Given the description of an element on the screen output the (x, y) to click on. 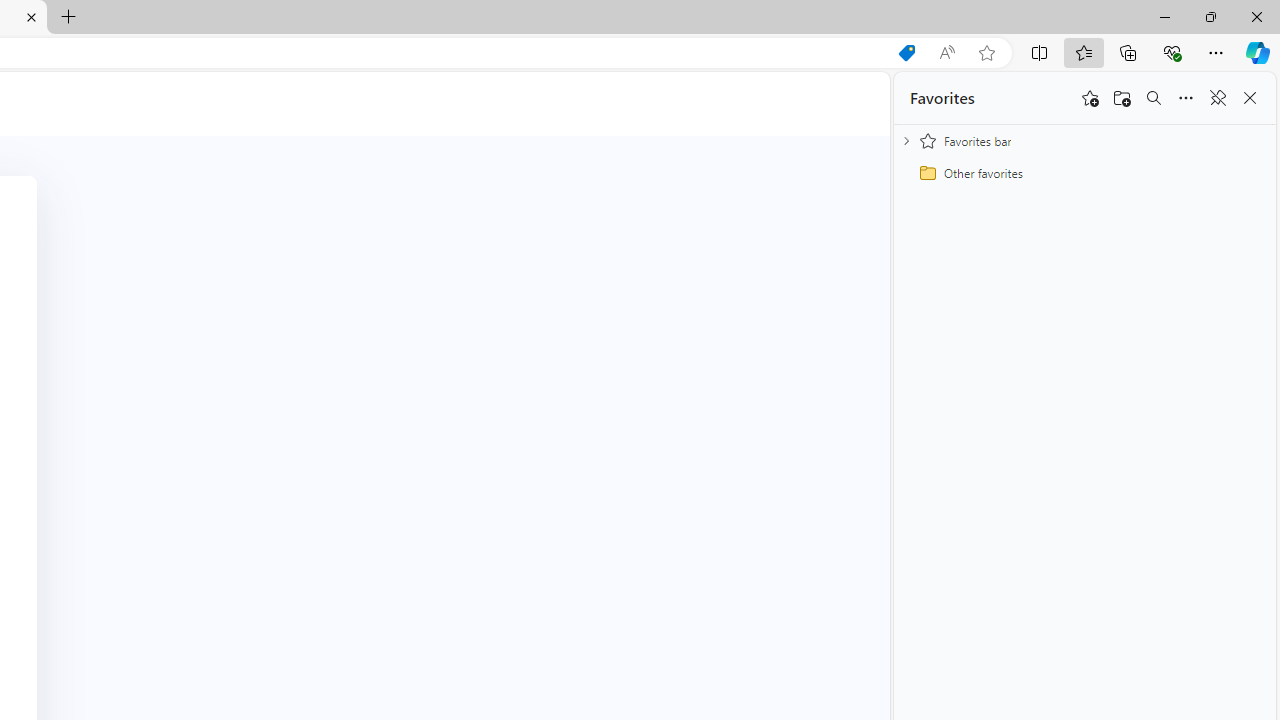
Unpin favorites (1217, 98)
